Given the description of an element on the screen output the (x, y) to click on. 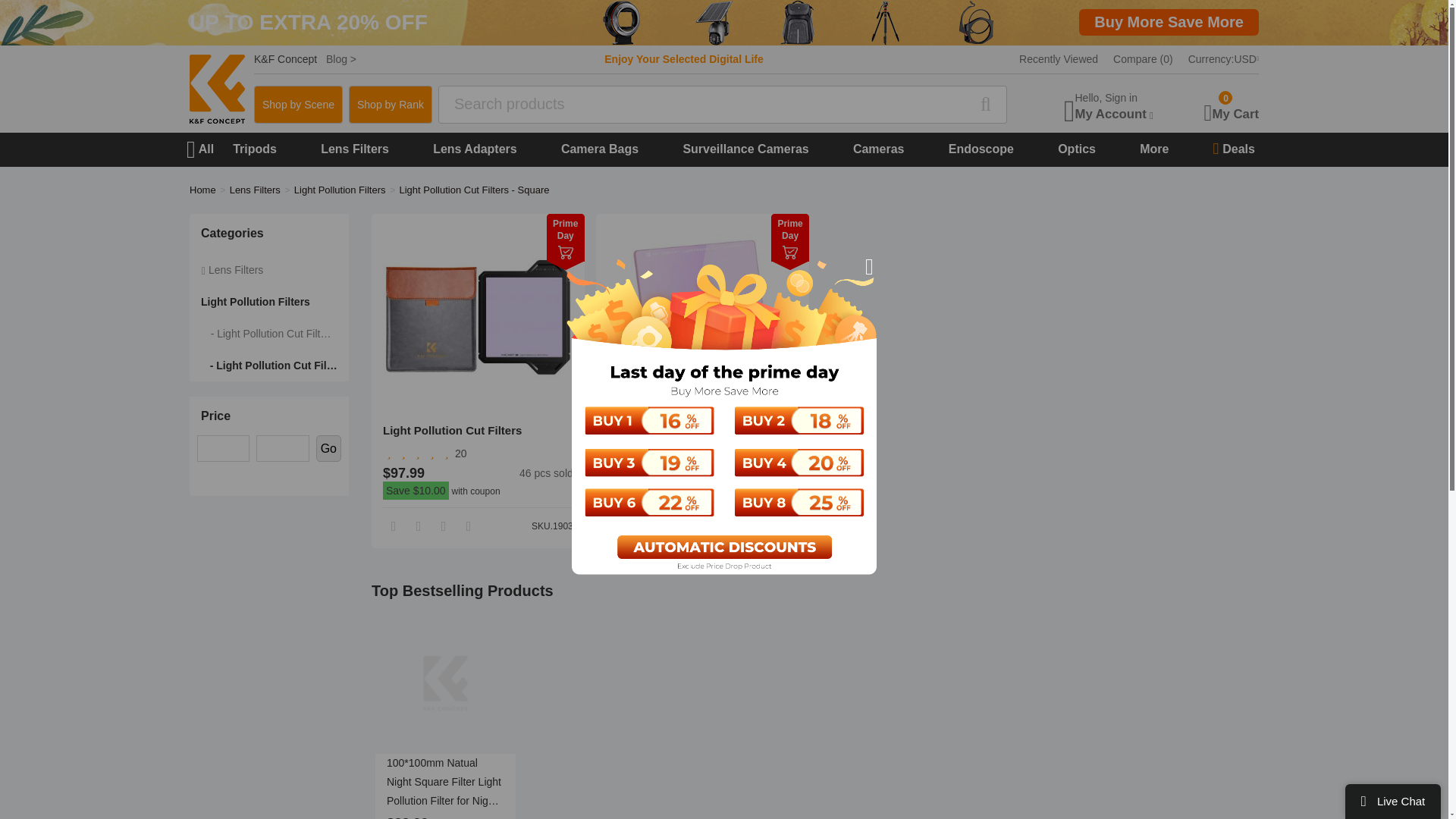
Compare (1143, 58)
Recently Viewed (1058, 58)
Recently Viewed (1058, 58)
Account (1115, 107)
Shop by Rank (1115, 107)
Shop by Scene (1223, 58)
Currency : USD (390, 104)
